Given the description of an element on the screen output the (x, y) to click on. 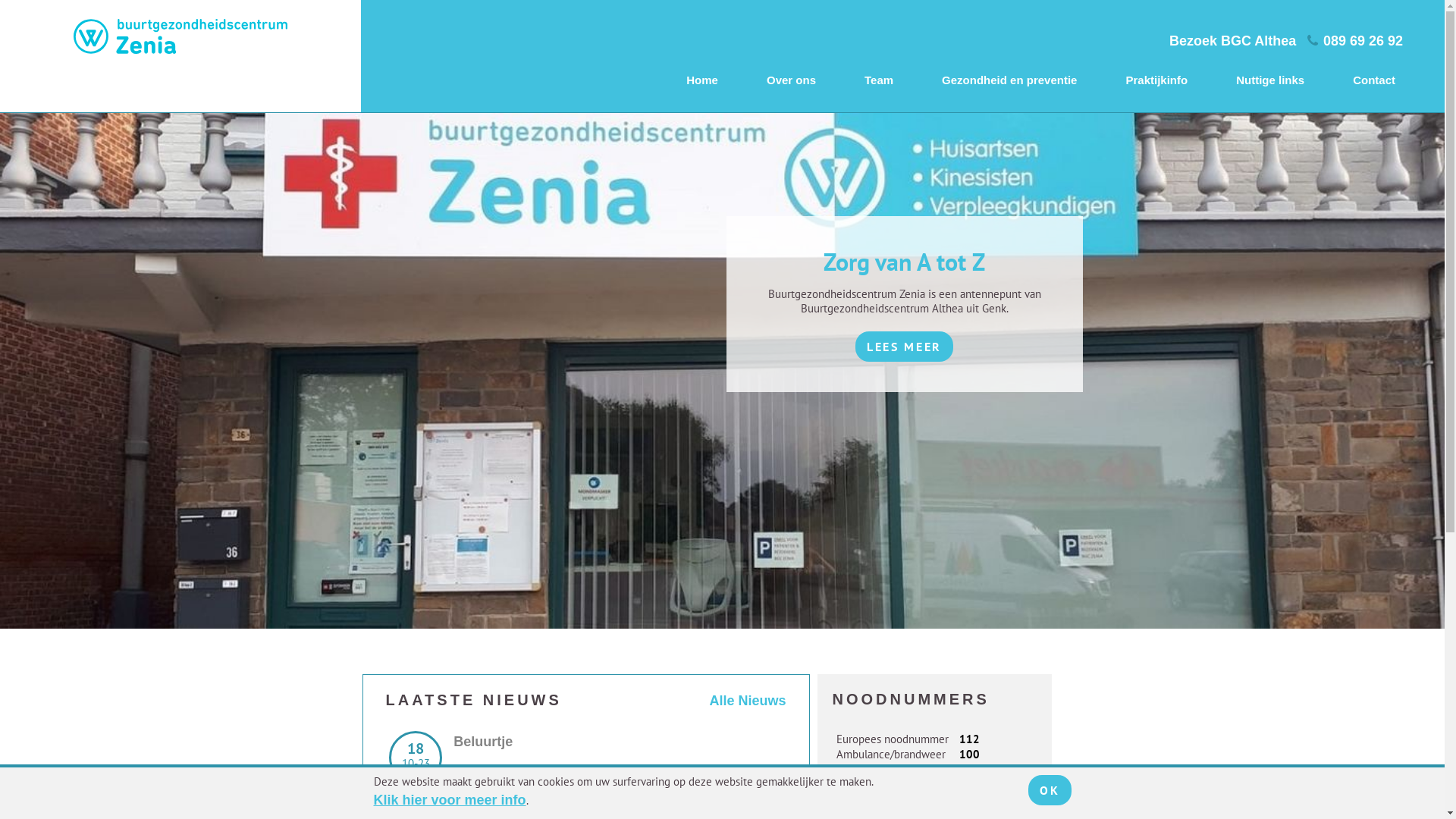
Home Element type: text (702, 80)
Over ons Element type: text (791, 80)
Klik hier voor meer info Element type: text (449, 799)
Beluurtje Element type: text (482, 741)
Lees meer Element type: text (486, 792)
Gezondheid en preventie Element type: text (1009, 80)
Nuttige links Element type: text (1269, 80)
089 69 26 92 Element type: text (1353, 41)
Team Element type: text (878, 80)
Praktijkinfo Element type: text (1156, 80)
Bezoek BGC Althea Element type: text (1232, 40)
OK Element type: text (1049, 790)
LEES MEER Element type: text (904, 346)
Contact Element type: text (1373, 80)
Alle Nieuws Element type: text (747, 701)
